Given the description of an element on the screen output the (x, y) to click on. 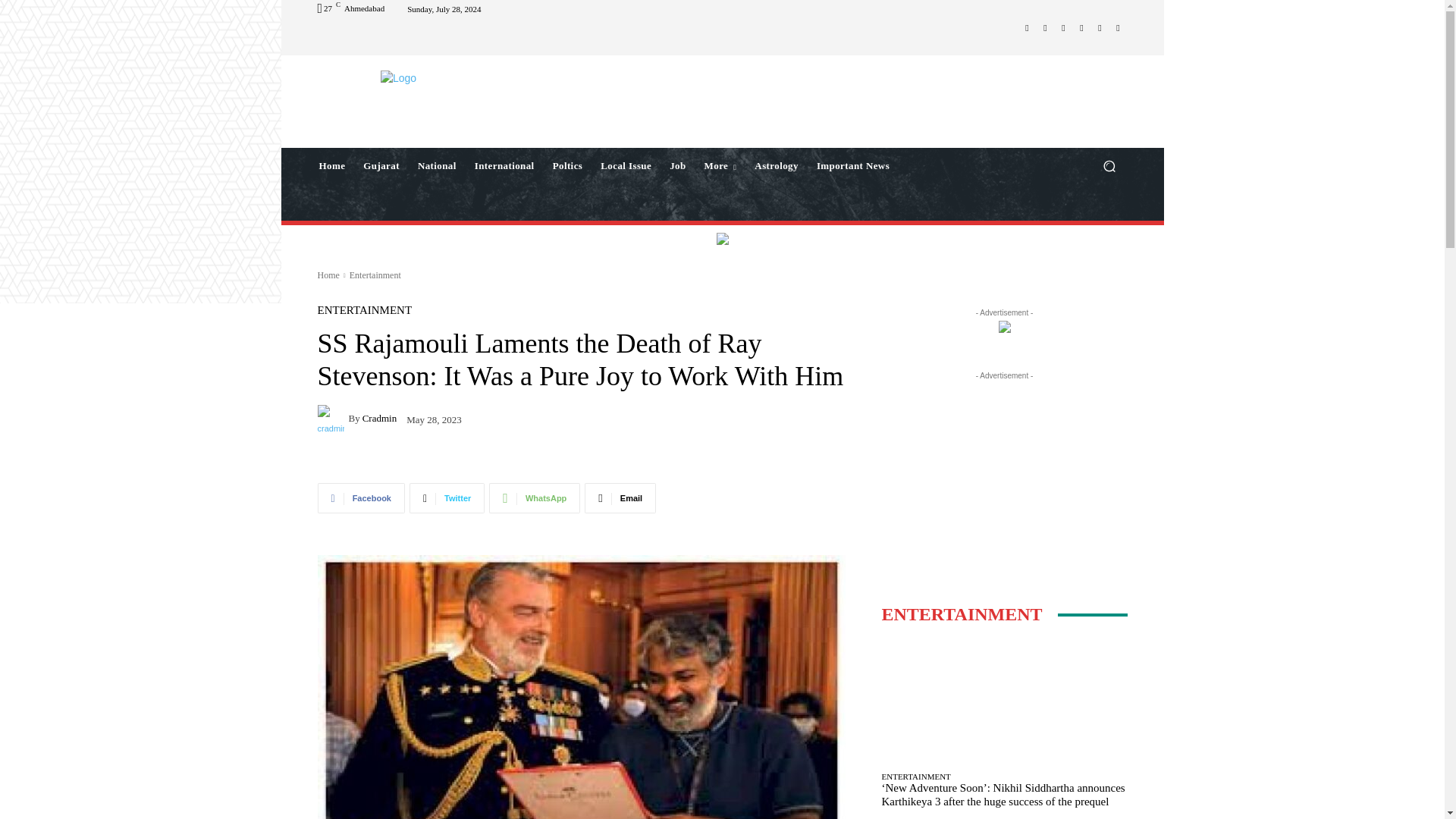
Mail (1062, 27)
Facebook (1026, 27)
Twitter (1080, 27)
WhatsApp (1099, 27)
Youtube (1117, 27)
Instagram (1044, 27)
